Given the description of an element on the screen output the (x, y) to click on. 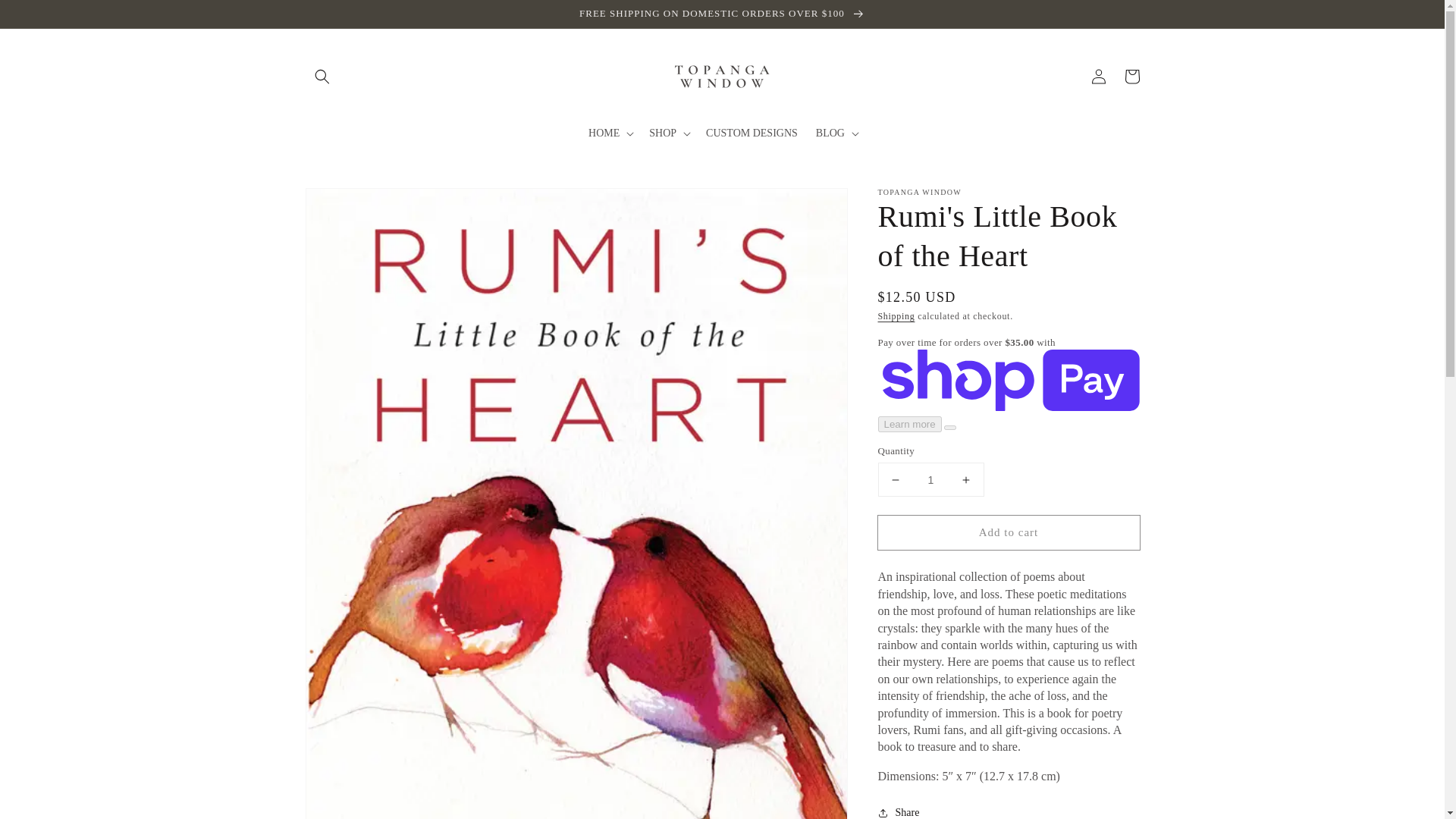
Skip to content (45, 16)
1 (930, 479)
